Given the description of an element on the screen output the (x, y) to click on. 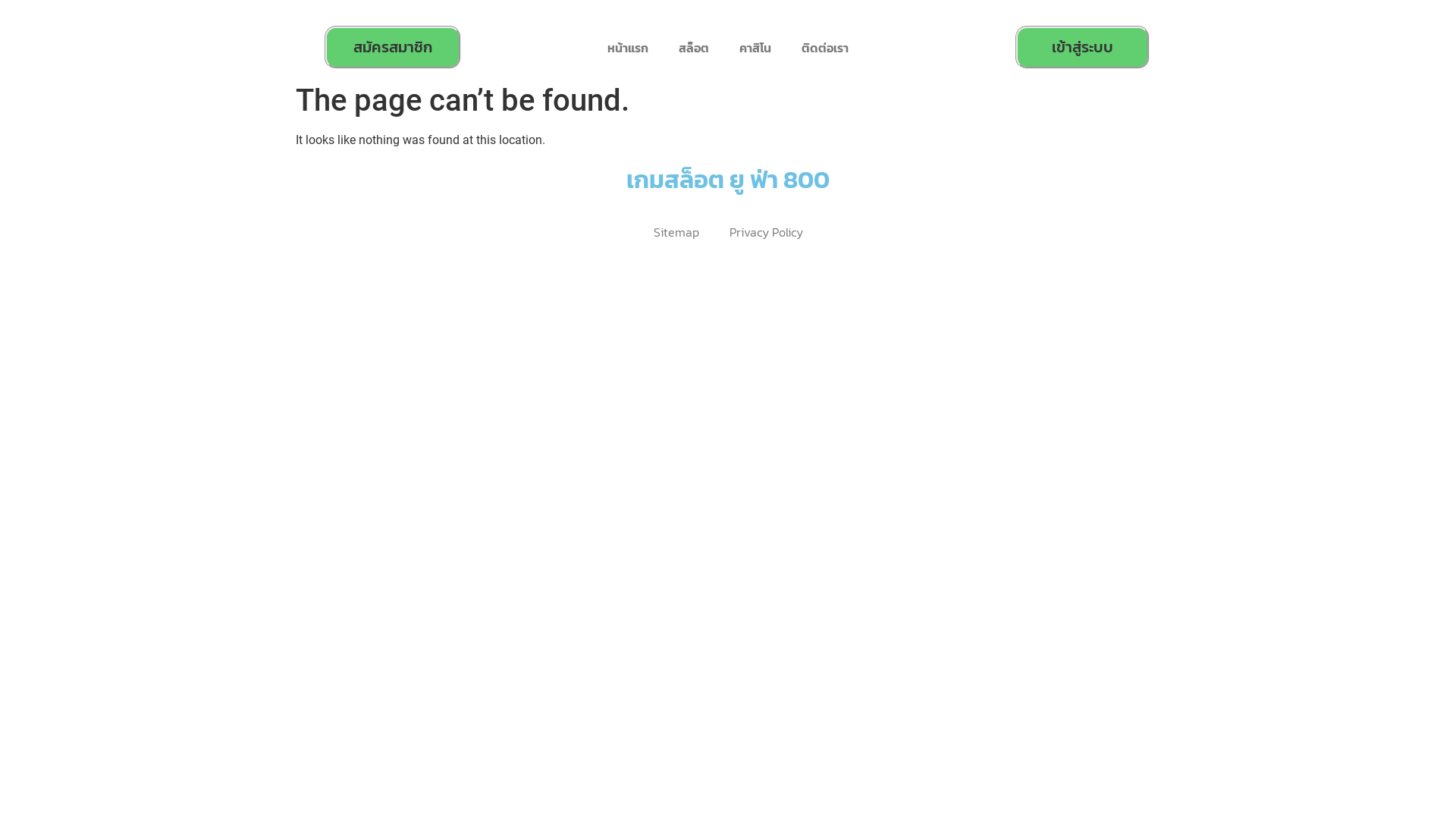
Sitemap Element type: text (676, 232)
Privacy Policy Element type: text (766, 232)
